Given the description of an element on the screen output the (x, y) to click on. 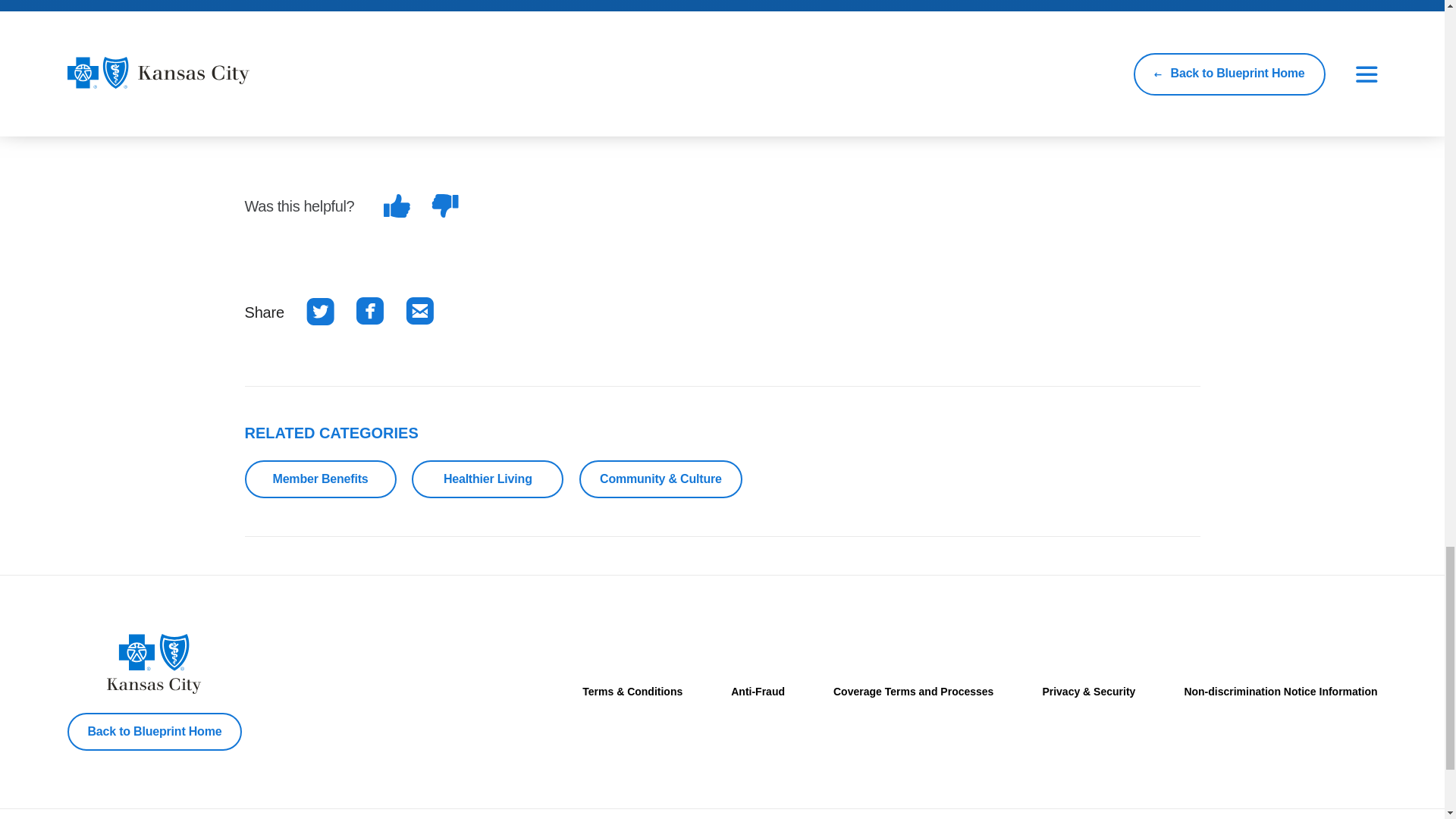
Healthier Living (487, 478)
Customer Service representative (810, 104)
Member Benefits (320, 478)
